Given the description of an element on the screen output the (x, y) to click on. 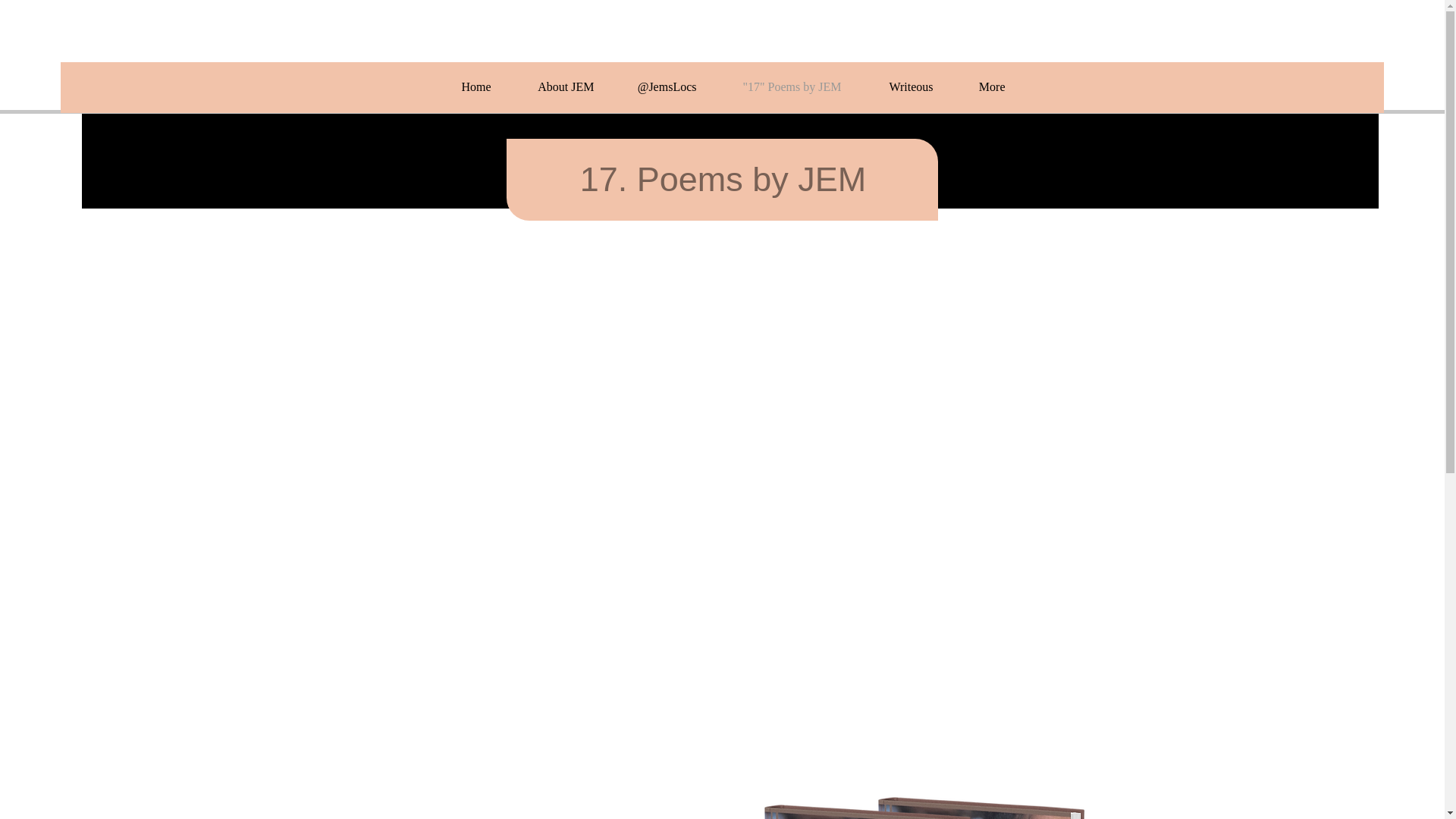
About JEM (553, 87)
"17" Poems by JEM (780, 87)
Writeous (897, 87)
Home (464, 87)
